Given the description of an element on the screen output the (x, y) to click on. 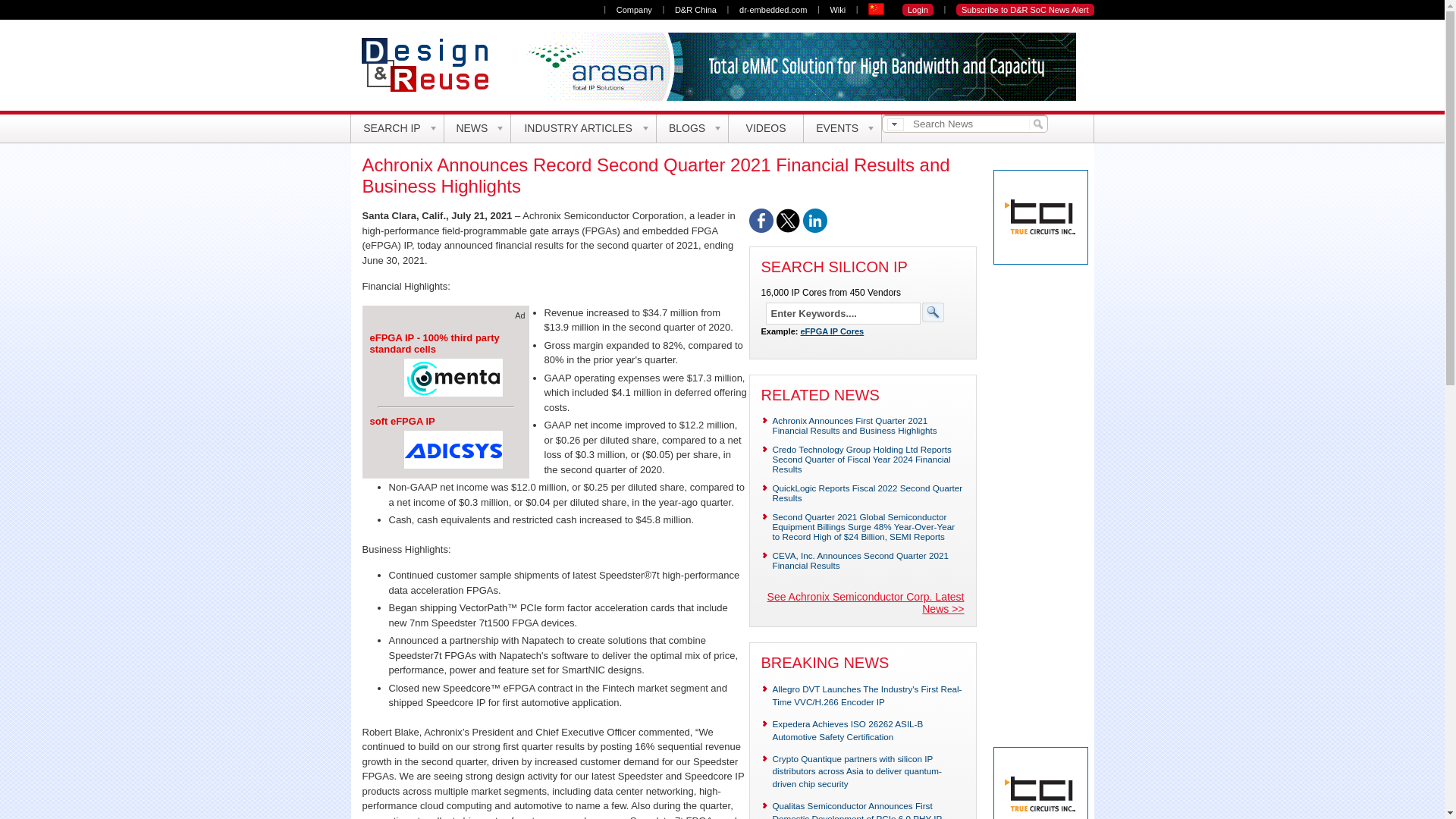
Enter Keywords.... (842, 313)
Design And Reuse (431, 64)
Share on Facebook (761, 229)
Wiki (837, 9)
Share on LinkedIn (815, 229)
Login (917, 9)
search (1036, 123)
dr-embedded.com (772, 9)
search filter (895, 124)
Tweet (787, 229)
Company (633, 9)
Enter Keywords.... (842, 313)
SEARCH IP (397, 128)
